Given the description of an element on the screen output the (x, y) to click on. 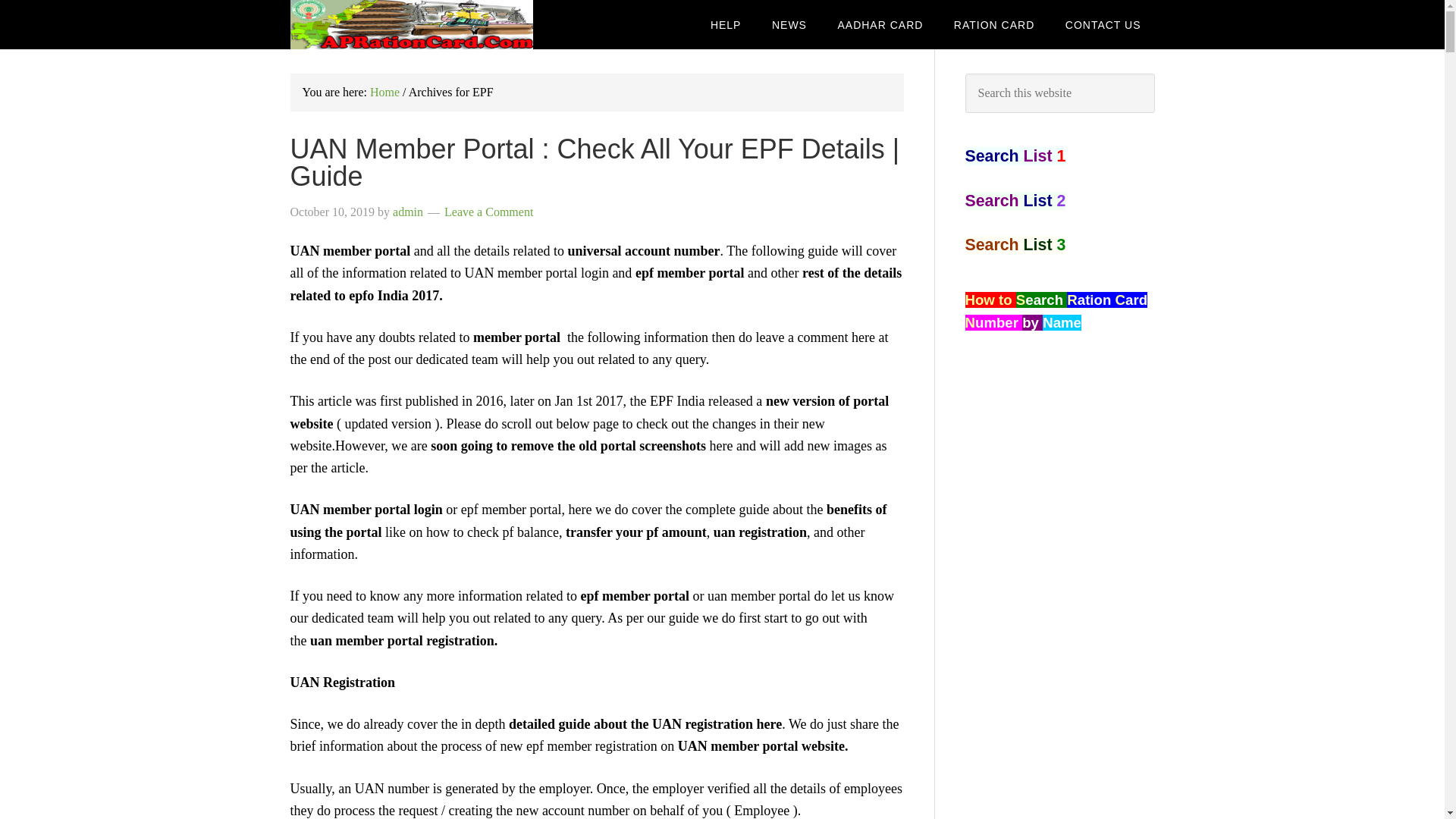
AADHAR CARD (880, 24)
RATION CARD (994, 24)
CONTACT US (1102, 24)
Home (383, 91)
admin (408, 211)
Leave a Comment (488, 211)
APRATIONCARD (410, 24)
HELP (726, 24)
NEWS (789, 24)
